Given the description of an element on the screen output the (x, y) to click on. 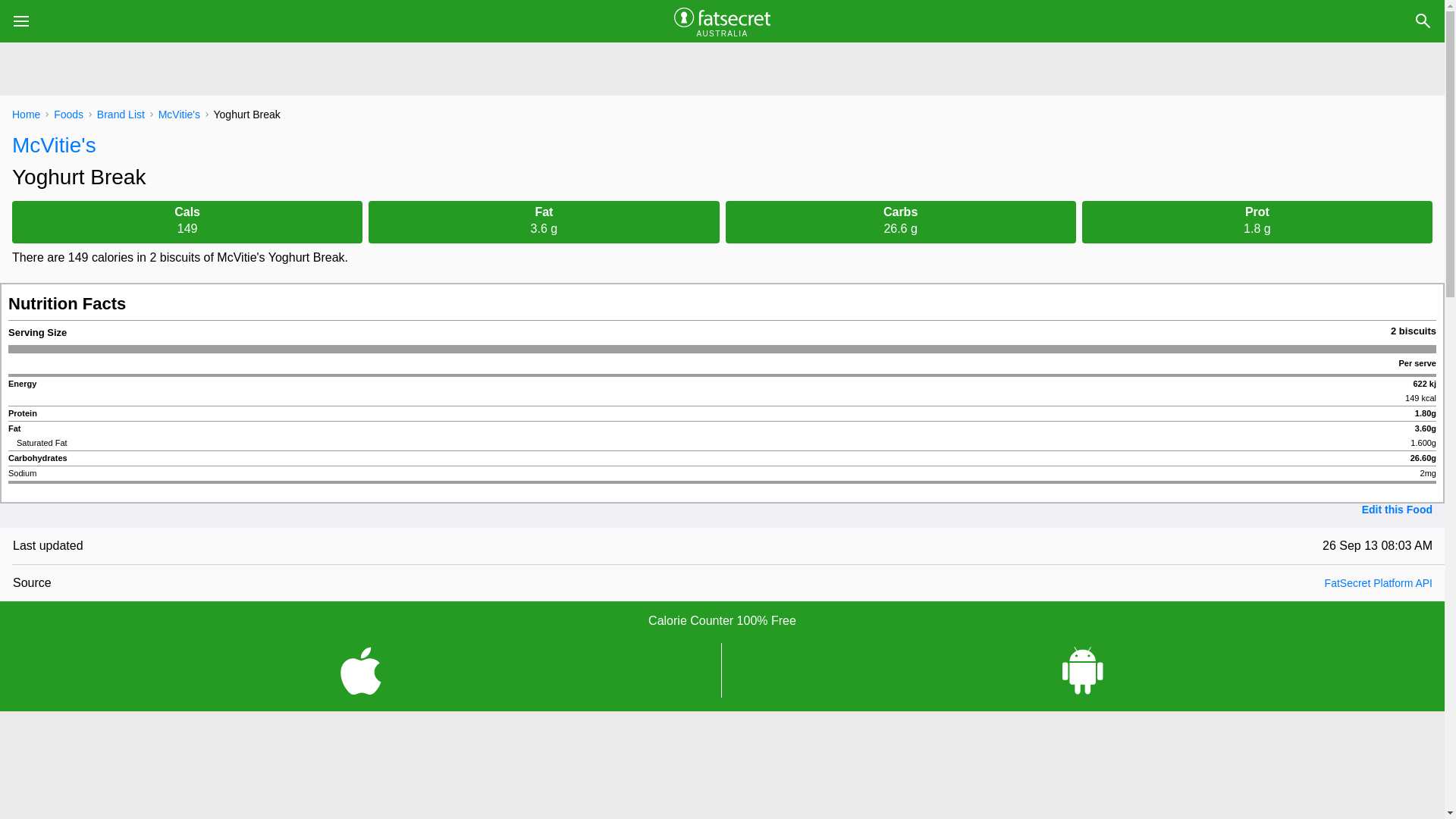
Brand List Element type: text (120, 114)
AUSTRALIA Element type: text (722, 21)
FatSecret Platform API Element type: text (1378, 583)
McVitie's Element type: text (179, 114)
Foods Element type: text (68, 114)
Source FatSecret Platform API Element type: text (728, 582)
Edit this Food Element type: text (1396, 509)
McVitie's Element type: text (722, 145)
Home Element type: text (26, 114)
